Given the description of an element on the screen output the (x, y) to click on. 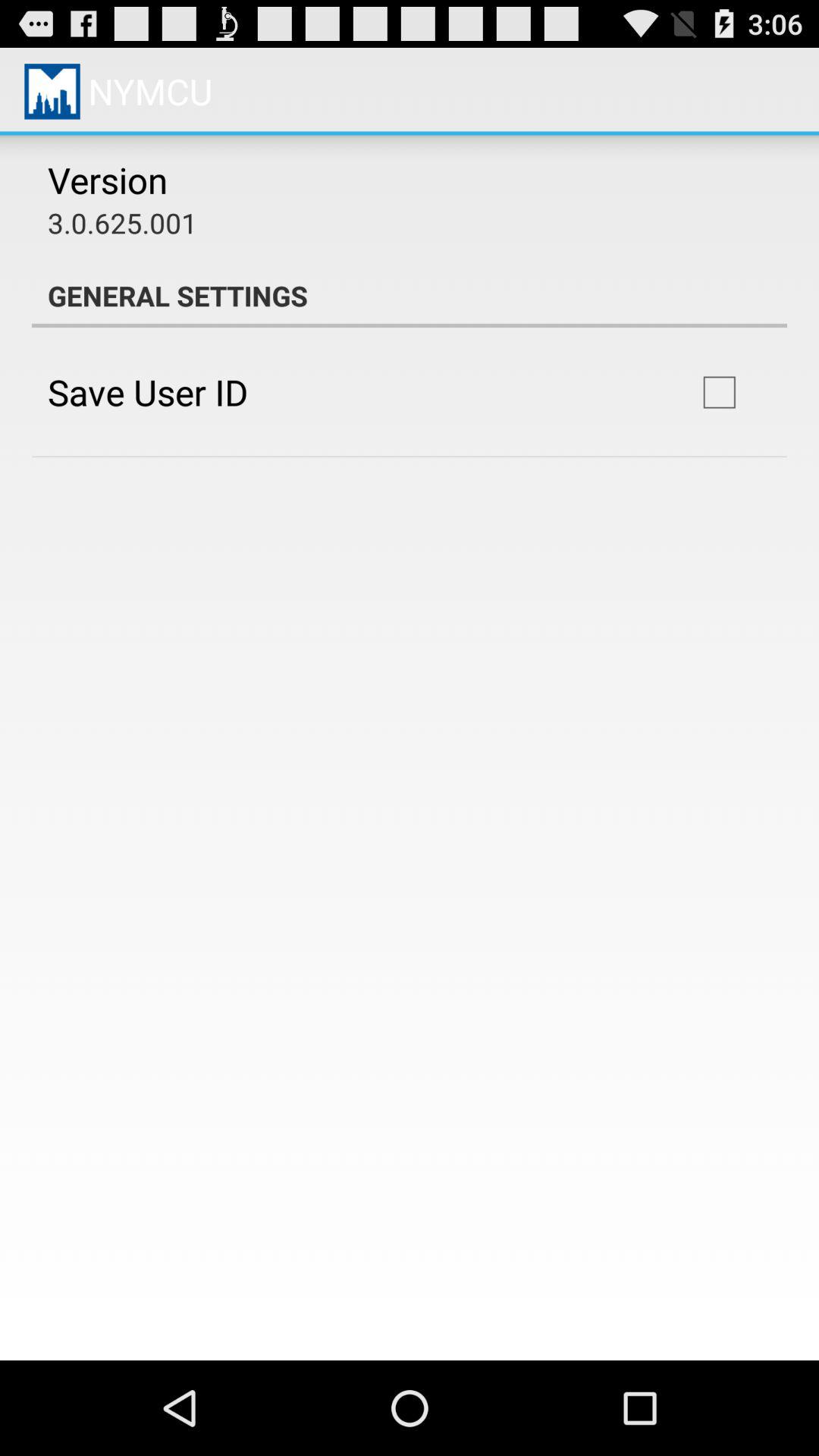
swipe until the version (107, 179)
